Given the description of an element on the screen output the (x, y) to click on. 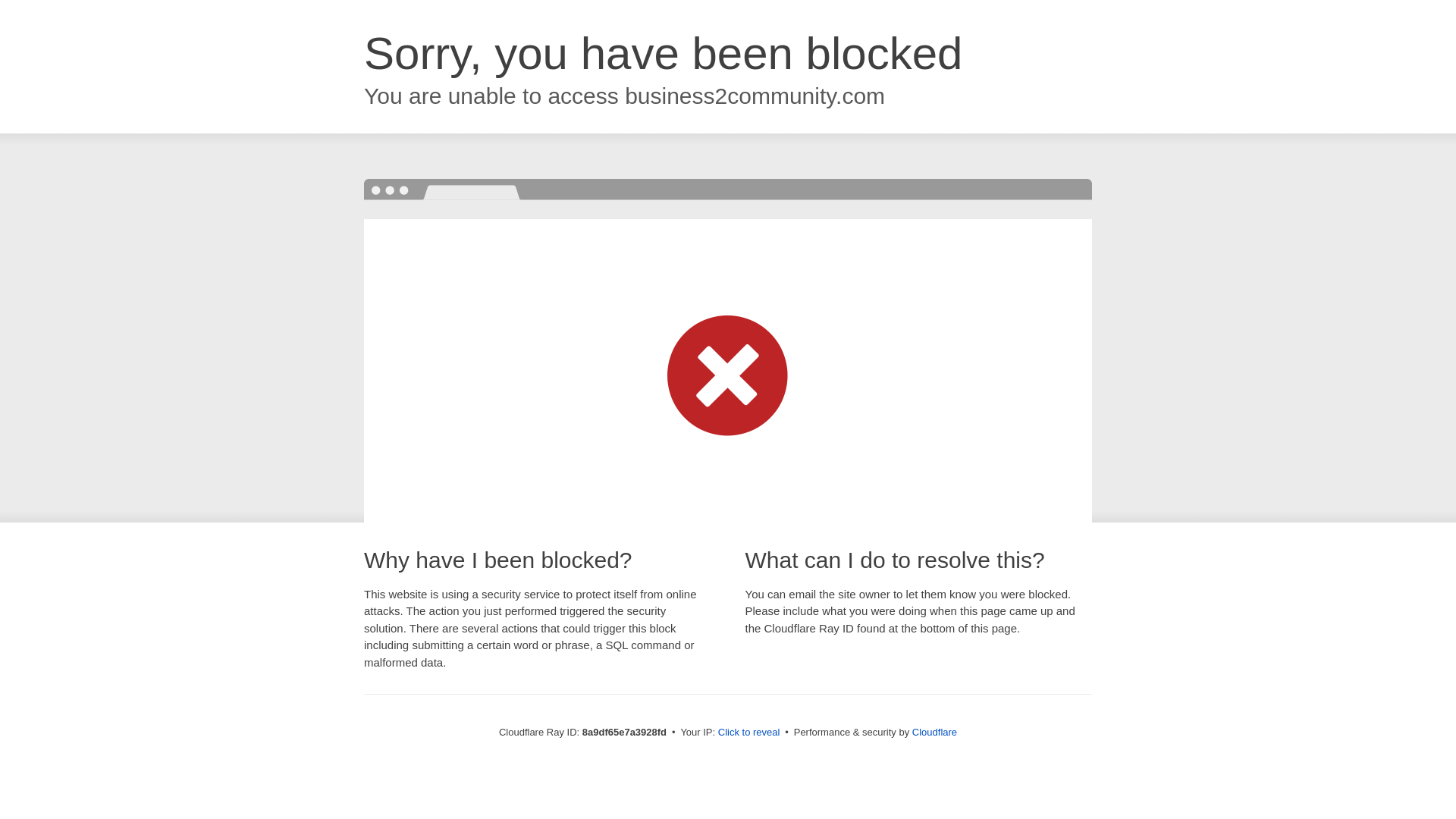
Cloudflare (934, 731)
Click to reveal (748, 732)
